Given the description of an element on the screen output the (x, y) to click on. 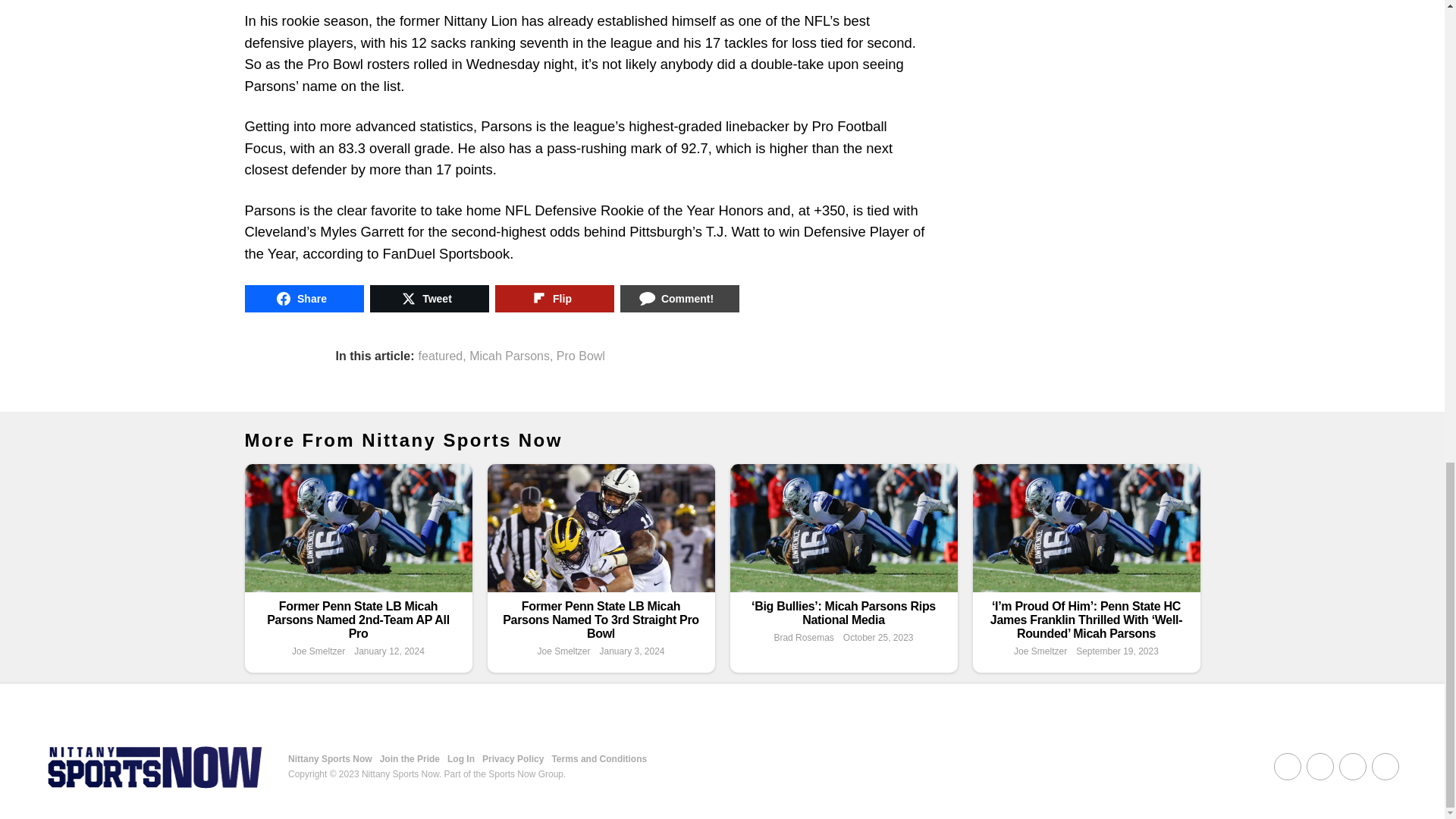
Share on Share (303, 298)
Posts by Joe Smeltzer (318, 651)
Share on Tweet (429, 298)
Posts by Joe Smeltzer (1040, 651)
Share on Flip (553, 298)
Posts by Joe Smeltzer (563, 651)
Posts by Brad Rosemas (802, 637)
Share on Comment! (679, 298)
